Given the description of an element on the screen output the (x, y) to click on. 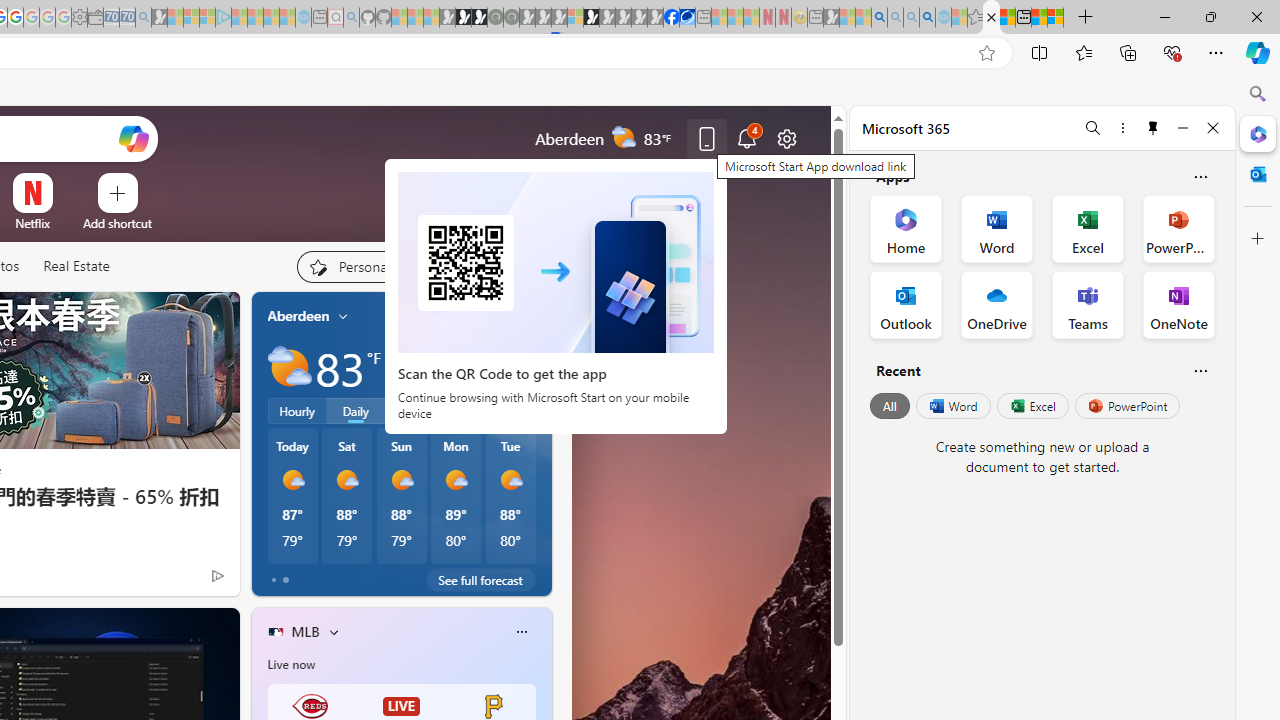
Teams Office App (1087, 304)
Class: weather-arrow-glyph (531, 367)
Is this helpful? (1200, 370)
MLB (305, 631)
See full forecast (480, 579)
